Given the description of an element on the screen output the (x, y) to click on. 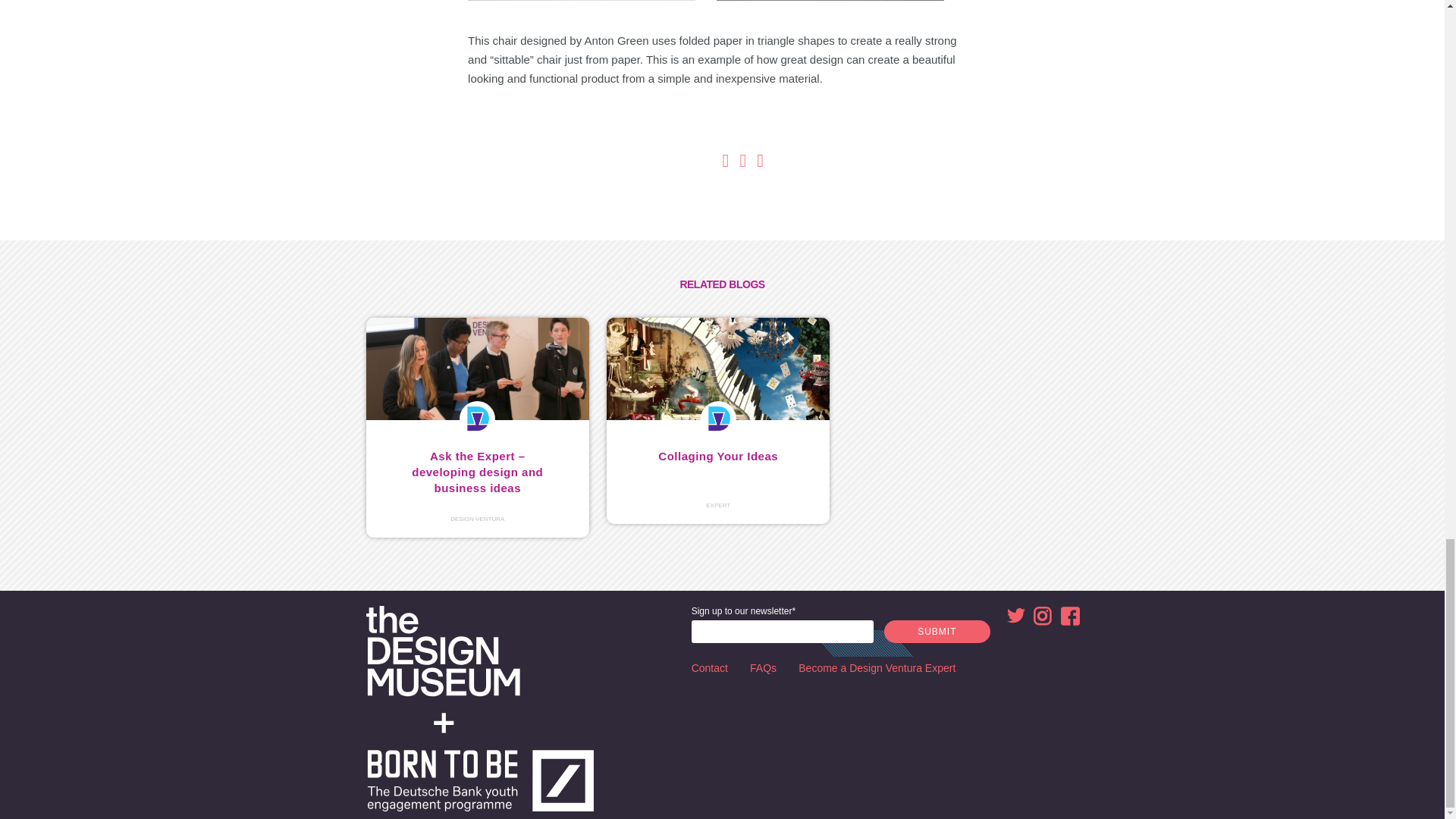
Submit (936, 630)
Submit (936, 630)
DESIGN VENTURA (476, 518)
EXPERT (718, 505)
